Given the description of an element on the screen output the (x, y) to click on. 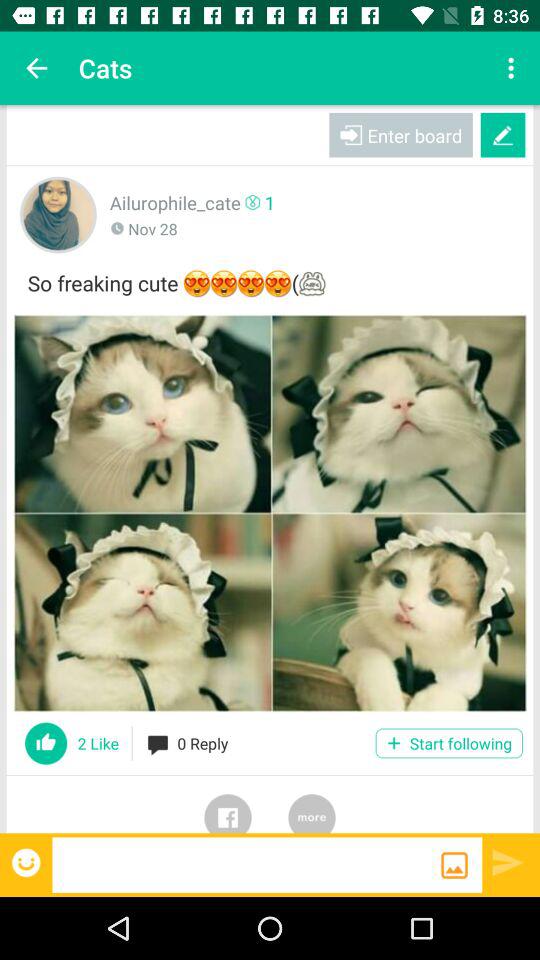
expand picture (269, 513)
